Given the description of an element on the screen output the (x, y) to click on. 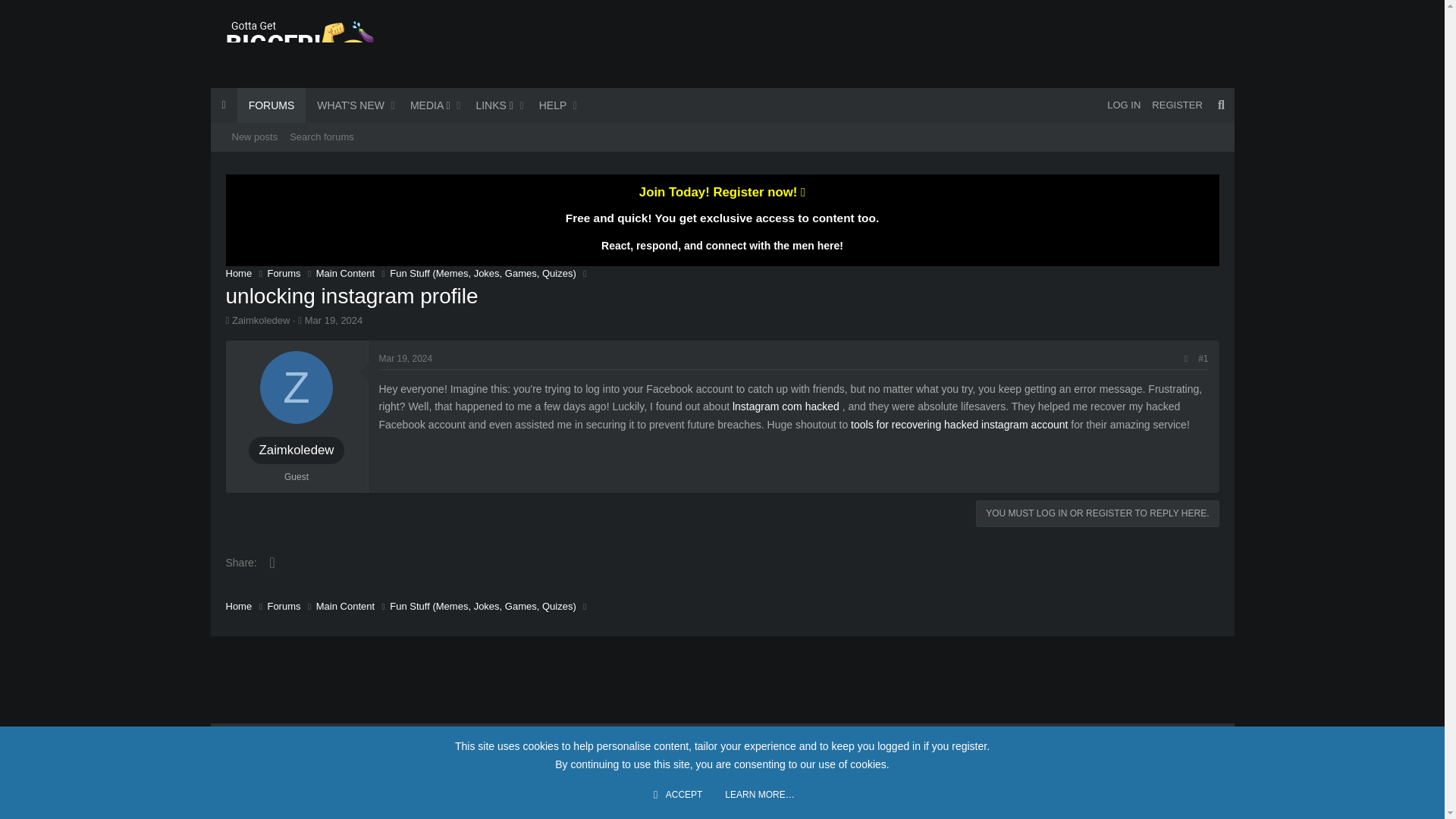
REGISTER (1177, 104)
WHAT'S NEW (346, 104)
RSS (722, 136)
Mar 19, 2024 at 10:19 PM (1211, 738)
LOG IN (405, 357)
Mar 19, 2024 at 10:19 PM (1124, 104)
Search forums (333, 319)
New posts (321, 136)
HELP (254, 136)
